Given the description of an element on the screen output the (x, y) to click on. 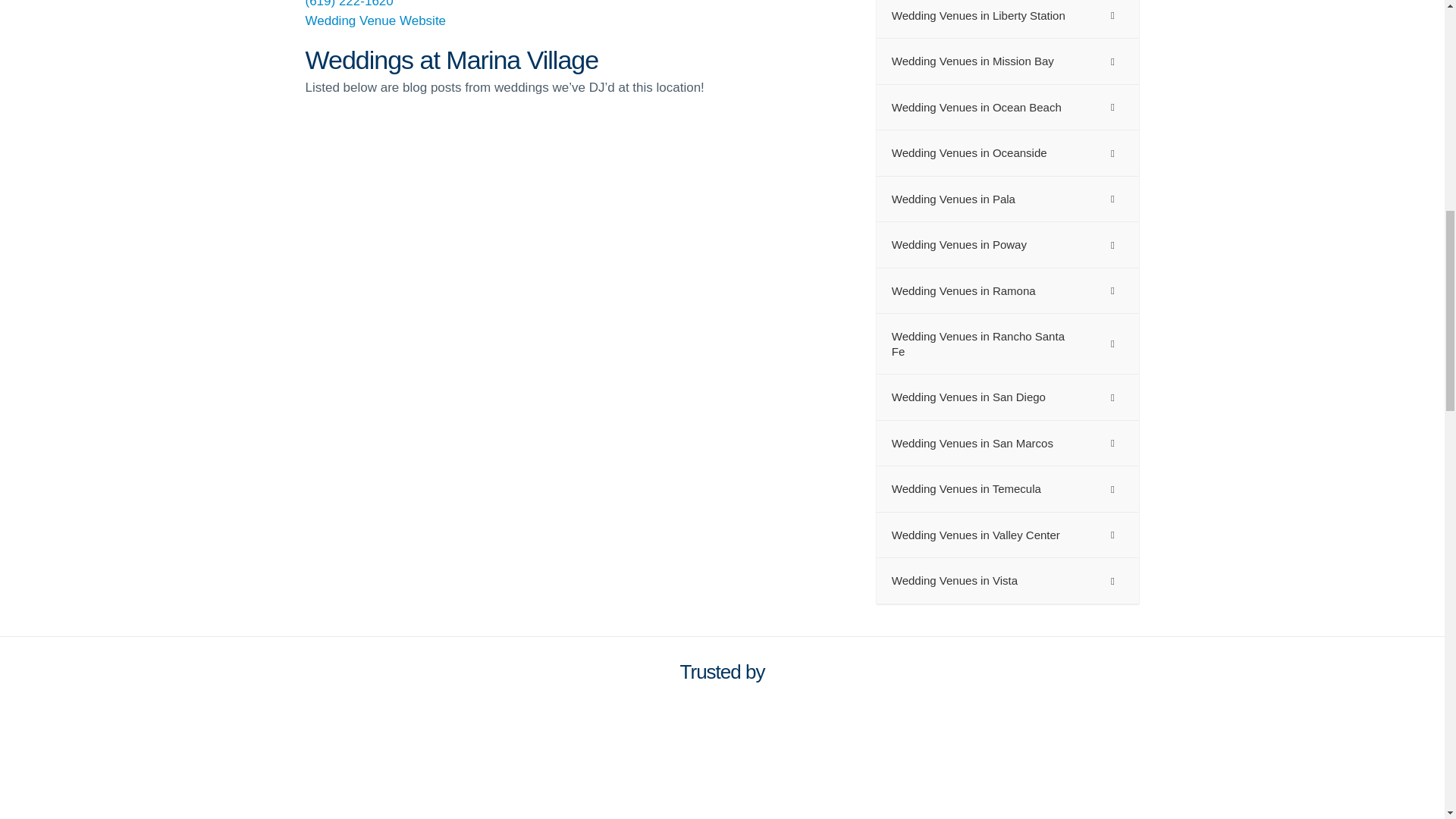
Call via Hangouts (348, 4)
